Given the description of an element on the screen output the (x, y) to click on. 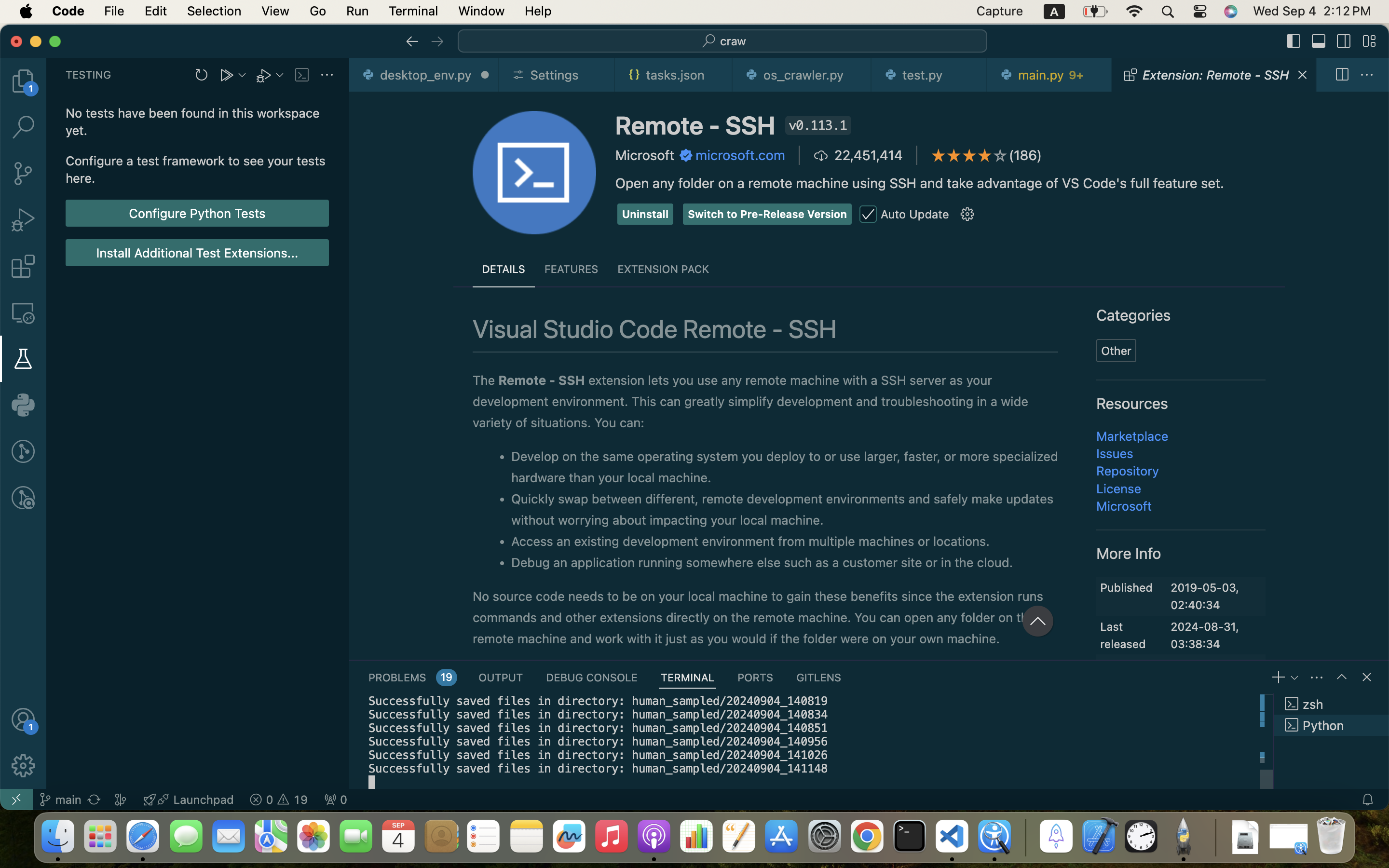
 Element type: AXButton (1369, 41)
Remote - SSH Element type: AXStaticText (695, 124)
Launchpad   Element type: AXButton (188, 799)
Auto Update Element type: AXStaticText (914, 214)
 Element type: AXCheckBox (1318, 41)
